Given the description of an element on the screen output the (x, y) to click on. 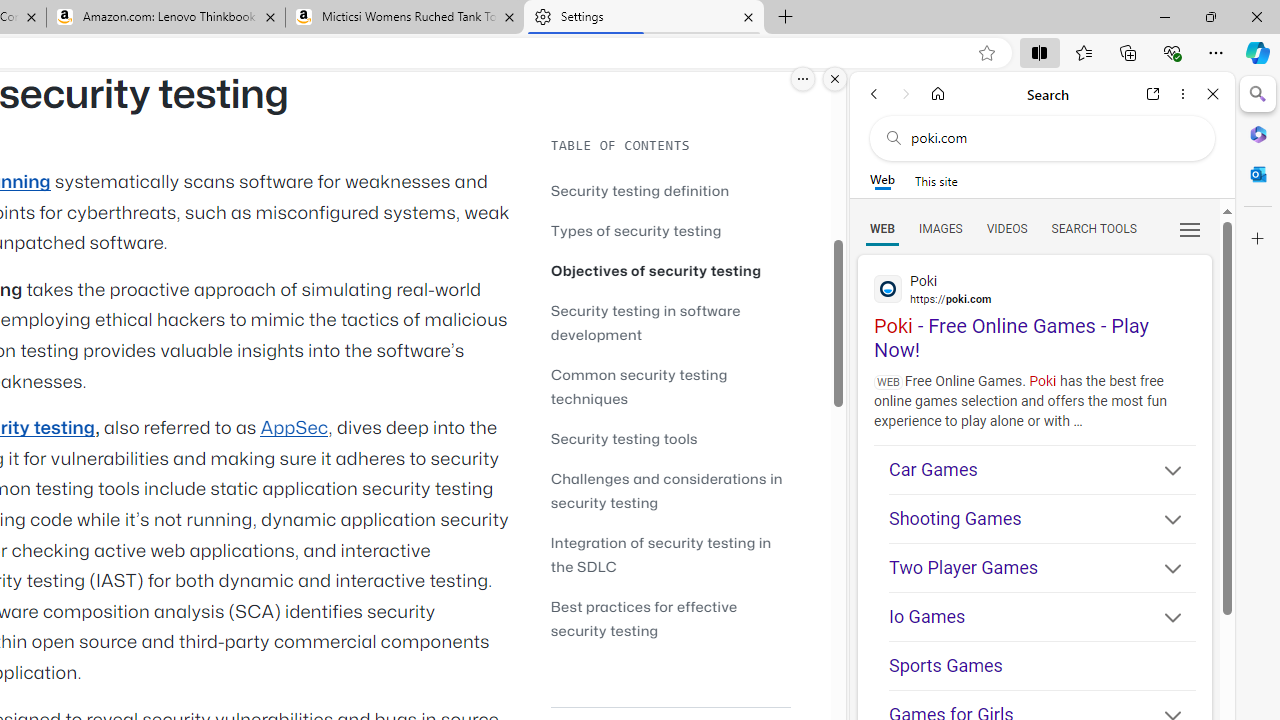
Io Games (1042, 617)
Objectives of security testing (655, 270)
Poki (1034, 288)
Shooting Games (1042, 519)
Car Games (1042, 470)
Two Player Games (1042, 567)
Common security testing techniques (639, 385)
Close split screen. (835, 79)
Show More Io Games (1164, 619)
